Given the description of an element on the screen output the (x, y) to click on. 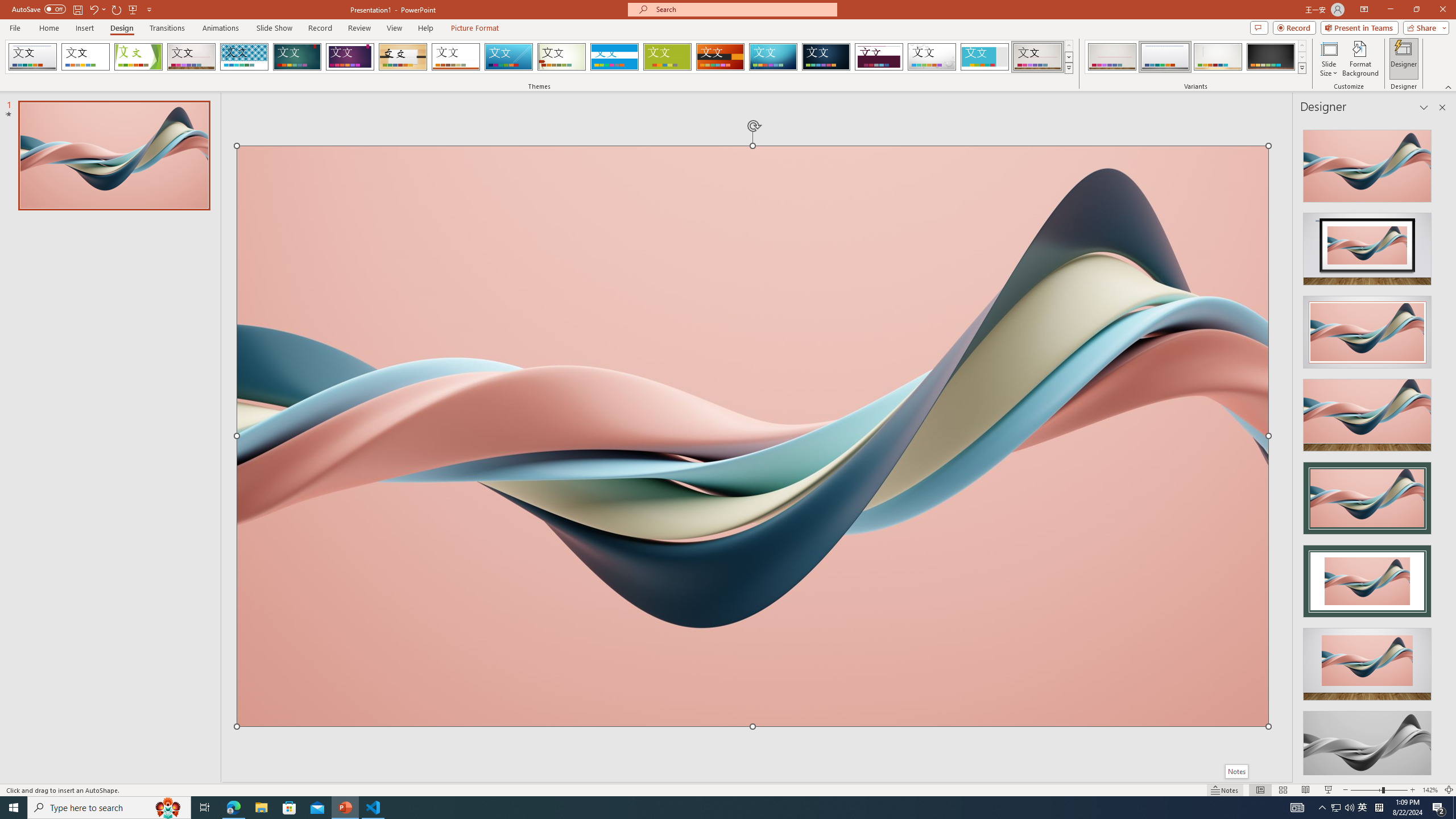
Format Background (1360, 58)
Wisp (561, 56)
Retrospect (455, 56)
AfterglowVTI (32, 56)
Ion Boardroom (350, 56)
Variants (1301, 67)
Gallery Variant 1 (1112, 56)
